Given the description of an element on the screen output the (x, y) to click on. 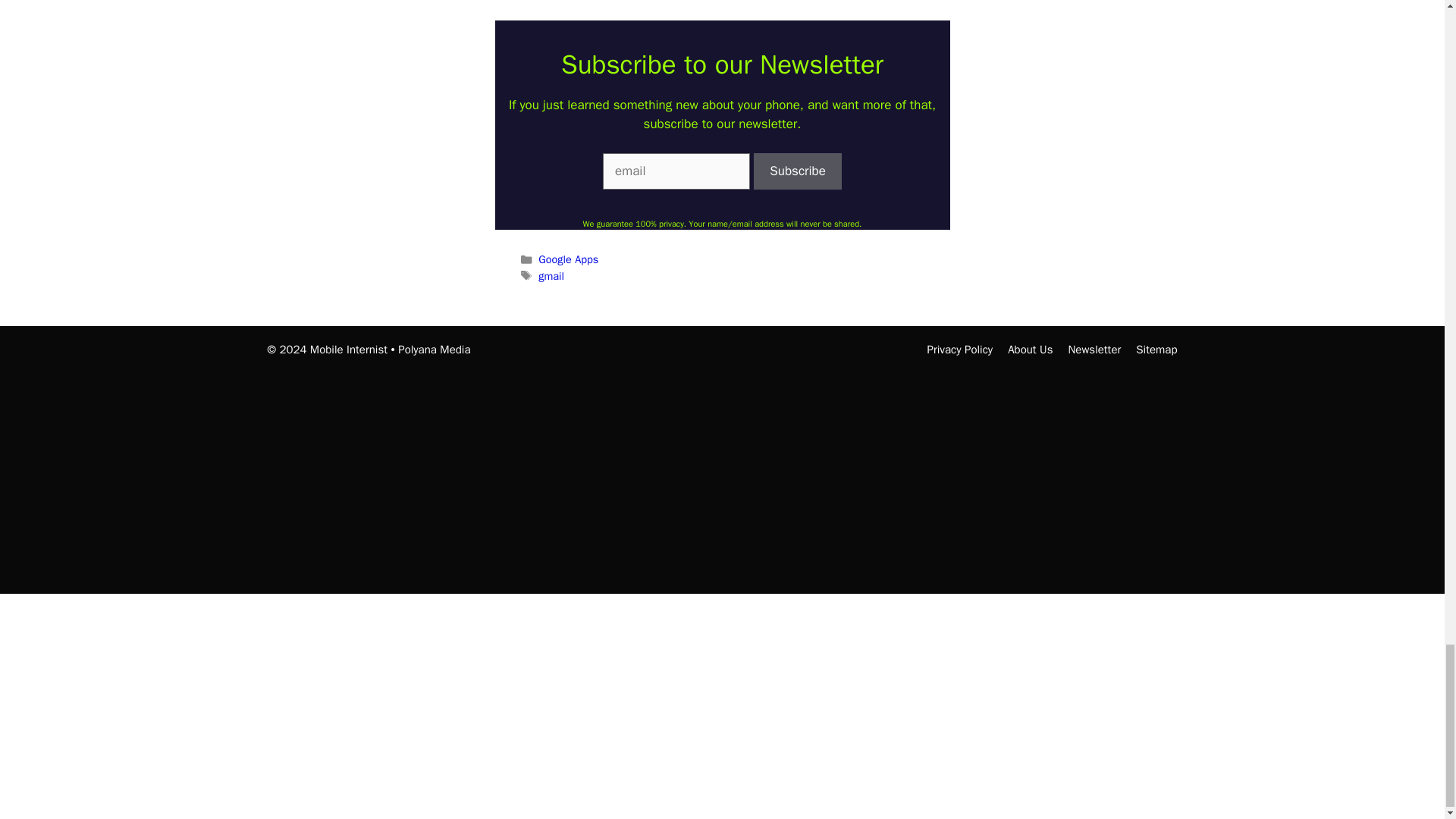
Sitemap (1155, 349)
Subscribe (797, 171)
Privacy Policy (959, 349)
Google Apps (568, 259)
Newsletter (1094, 349)
About Us (1029, 349)
Subscribe (797, 171)
gmail (551, 275)
